Given the description of an element on the screen output the (x, y) to click on. 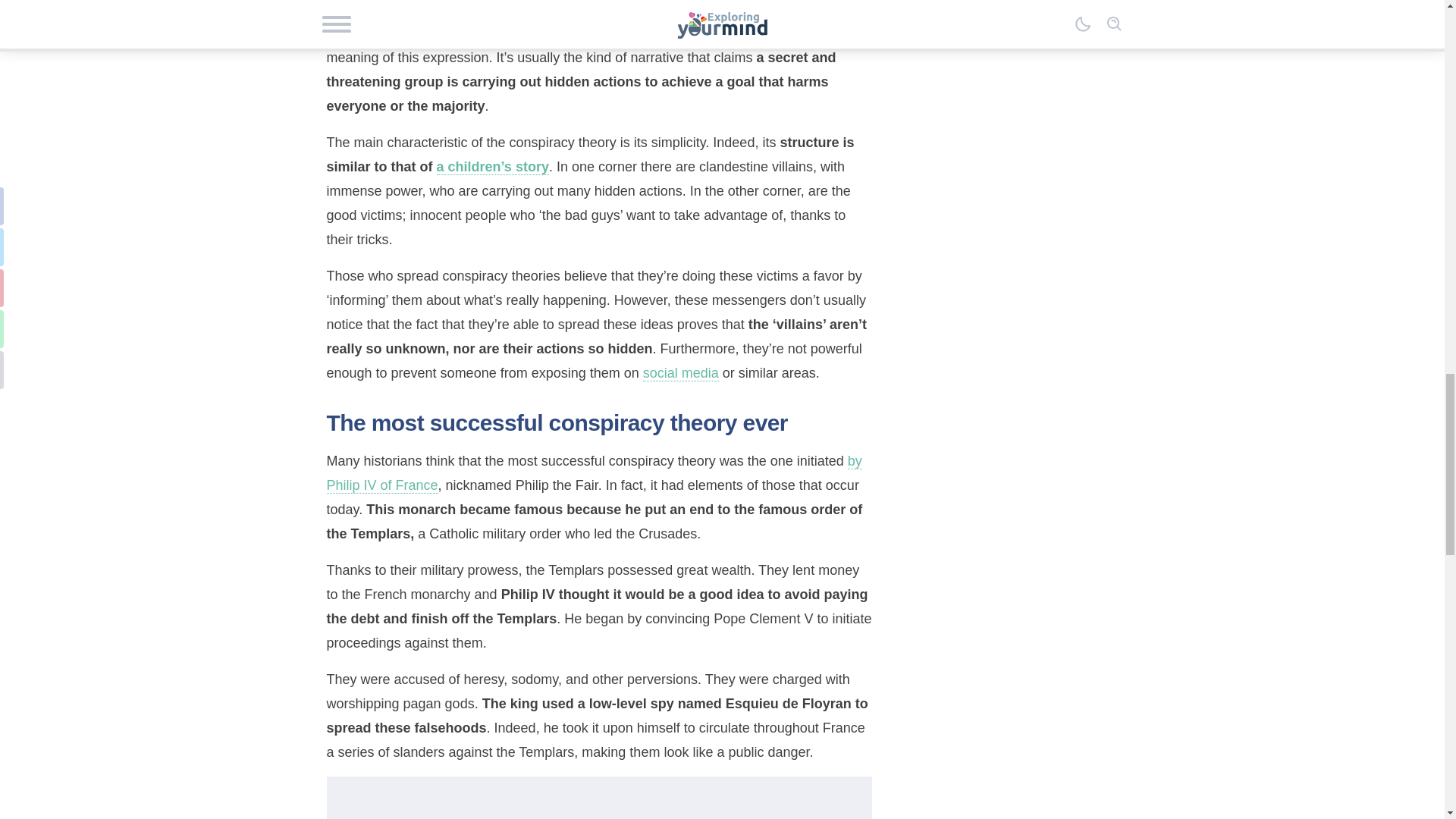
by Philip IV of France (593, 473)
social media (681, 373)
